Given the description of an element on the screen output the (x, y) to click on. 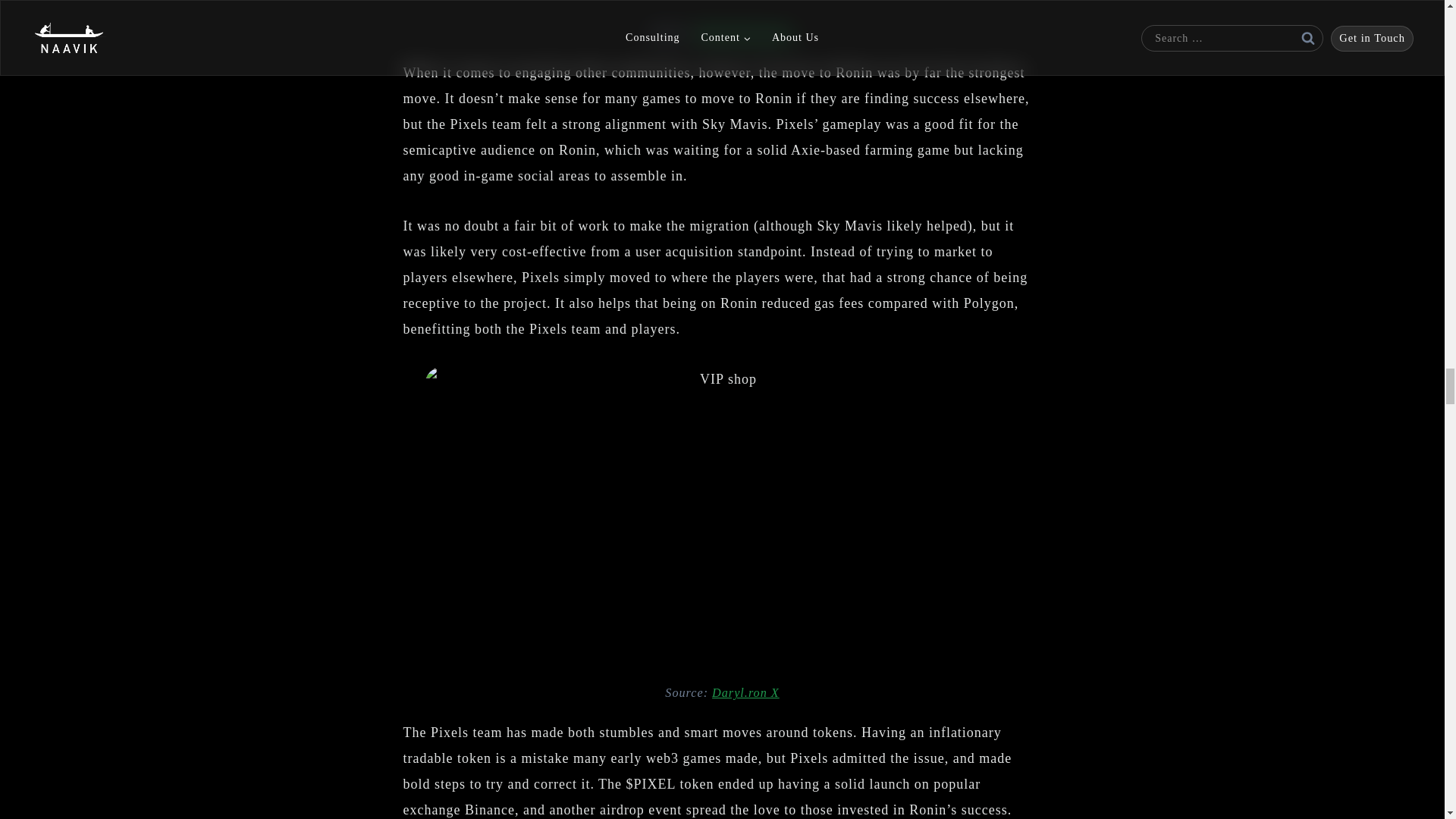
Daryl.ron X (744, 693)
Blockchaingamer (745, 33)
